Given the description of an element on the screen output the (x, y) to click on. 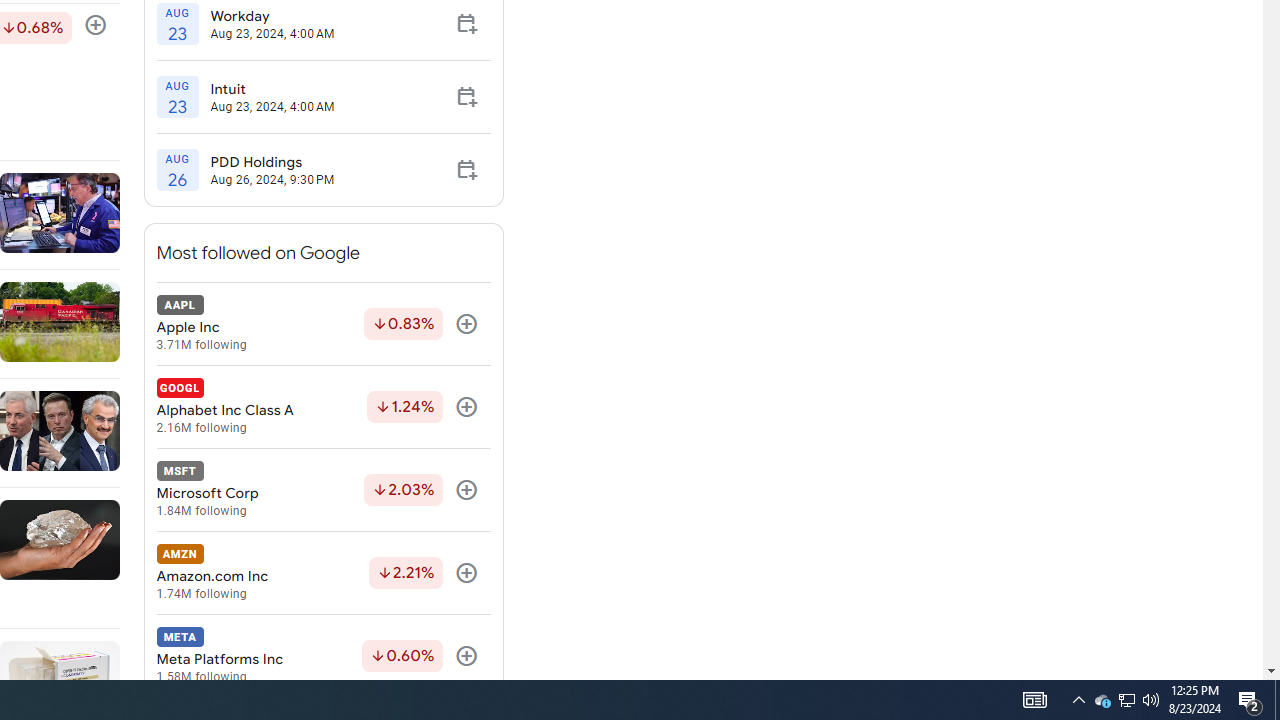
PDD Holdings (272, 161)
MSFT Microsoft Corp 1.84M following Down by 2.03% Follow (323, 490)
META Meta Platforms Inc 1.58M following Down by 0.60% Follow (323, 655)
Intuit (272, 89)
AMZN Amazon.com Inc 1.74M following Down by 2.21% Follow (323, 573)
Follow (466, 656)
Add to calendar (466, 169)
Workday (272, 15)
AAPL Apple Inc 3.71M following Down by 0.83% Follow (323, 323)
